Given the description of an element on the screen output the (x, y) to click on. 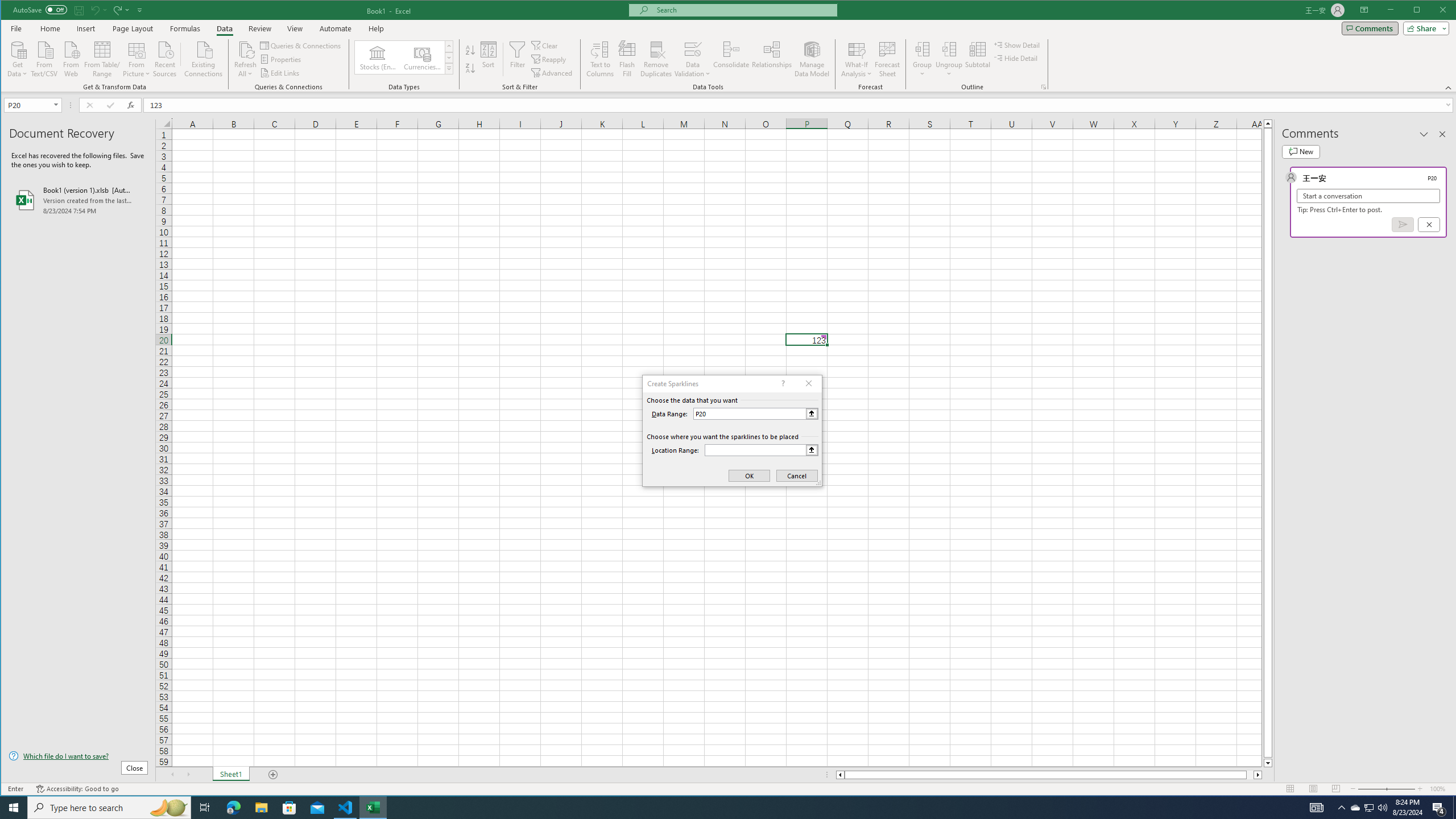
Post comment (Ctrl + Enter) (1402, 224)
Sort Smallest to Largest (470, 49)
